Given the description of an element on the screen output the (x, y) to click on. 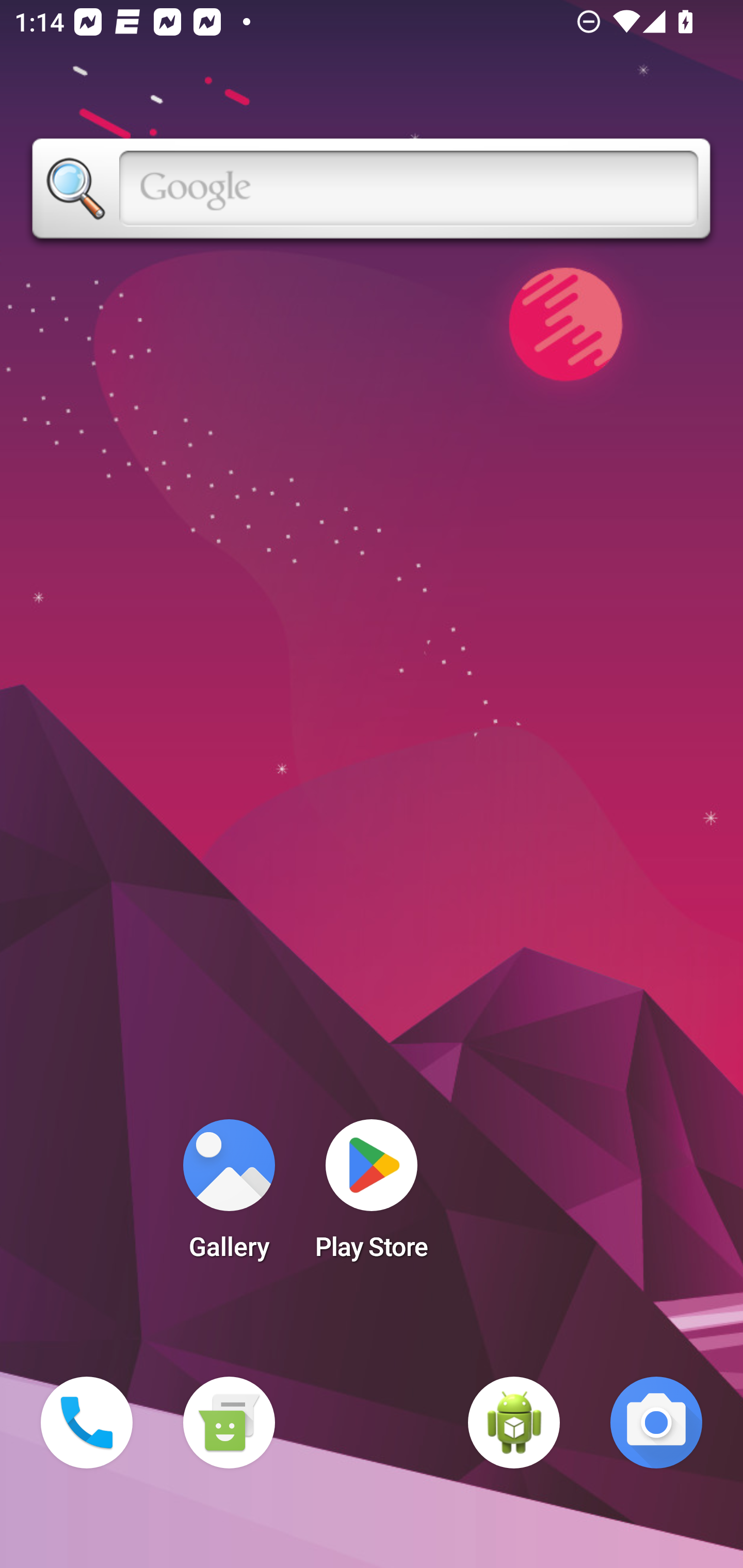
Gallery (228, 1195)
Play Store (371, 1195)
Phone (86, 1422)
Messaging (228, 1422)
WebView Browser Tester (513, 1422)
Camera (656, 1422)
